Given the description of an element on the screen output the (x, y) to click on. 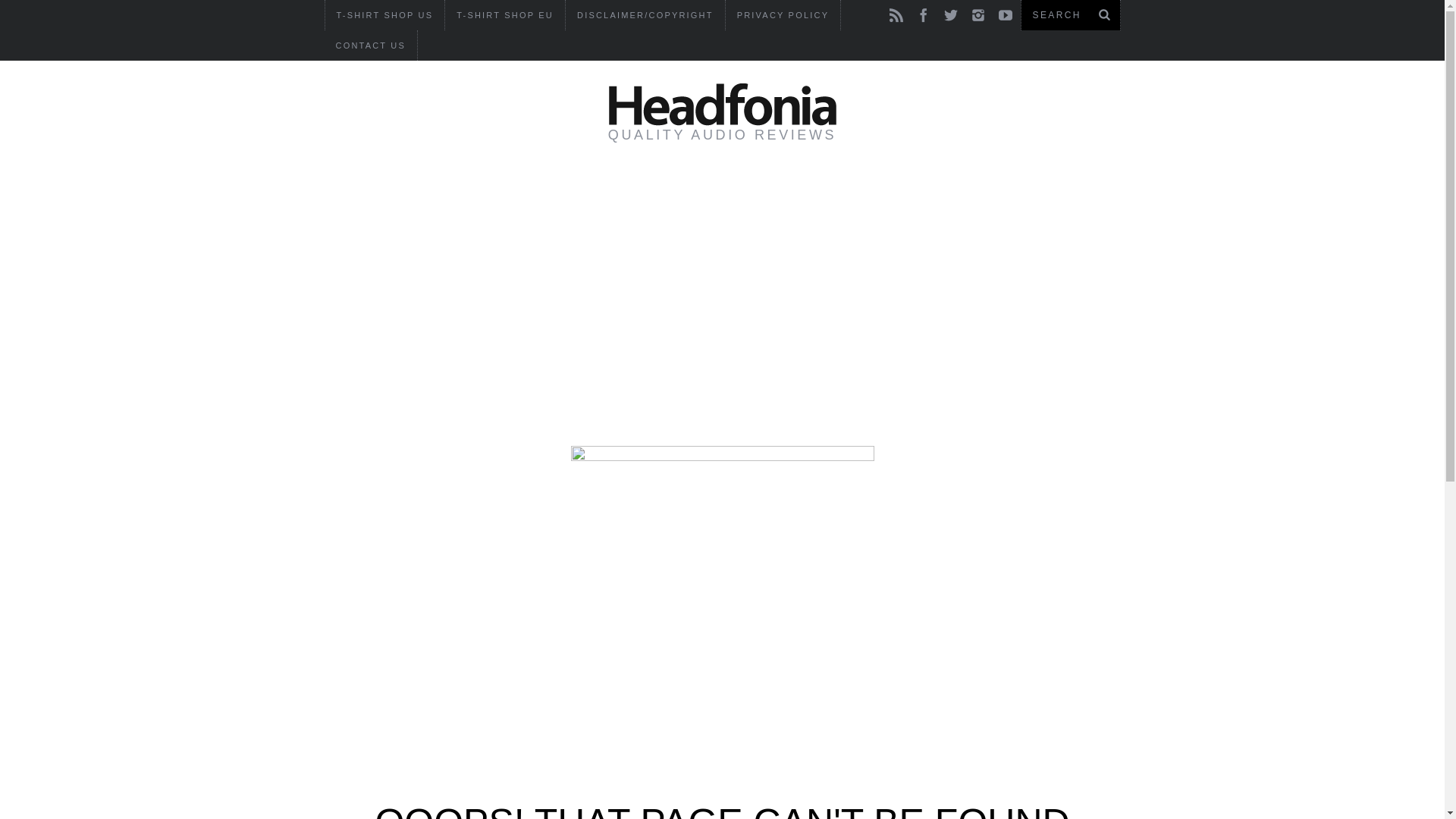
PRIVACY POLICY (782, 14)
Headfonia Reviews - Quality audio reviews (721, 104)
T-SHIRT SHOP US (384, 14)
Search (1070, 15)
T-SHIRT SHOP EU (504, 14)
CONTACT US (370, 44)
